Given the description of an element on the screen output the (x, y) to click on. 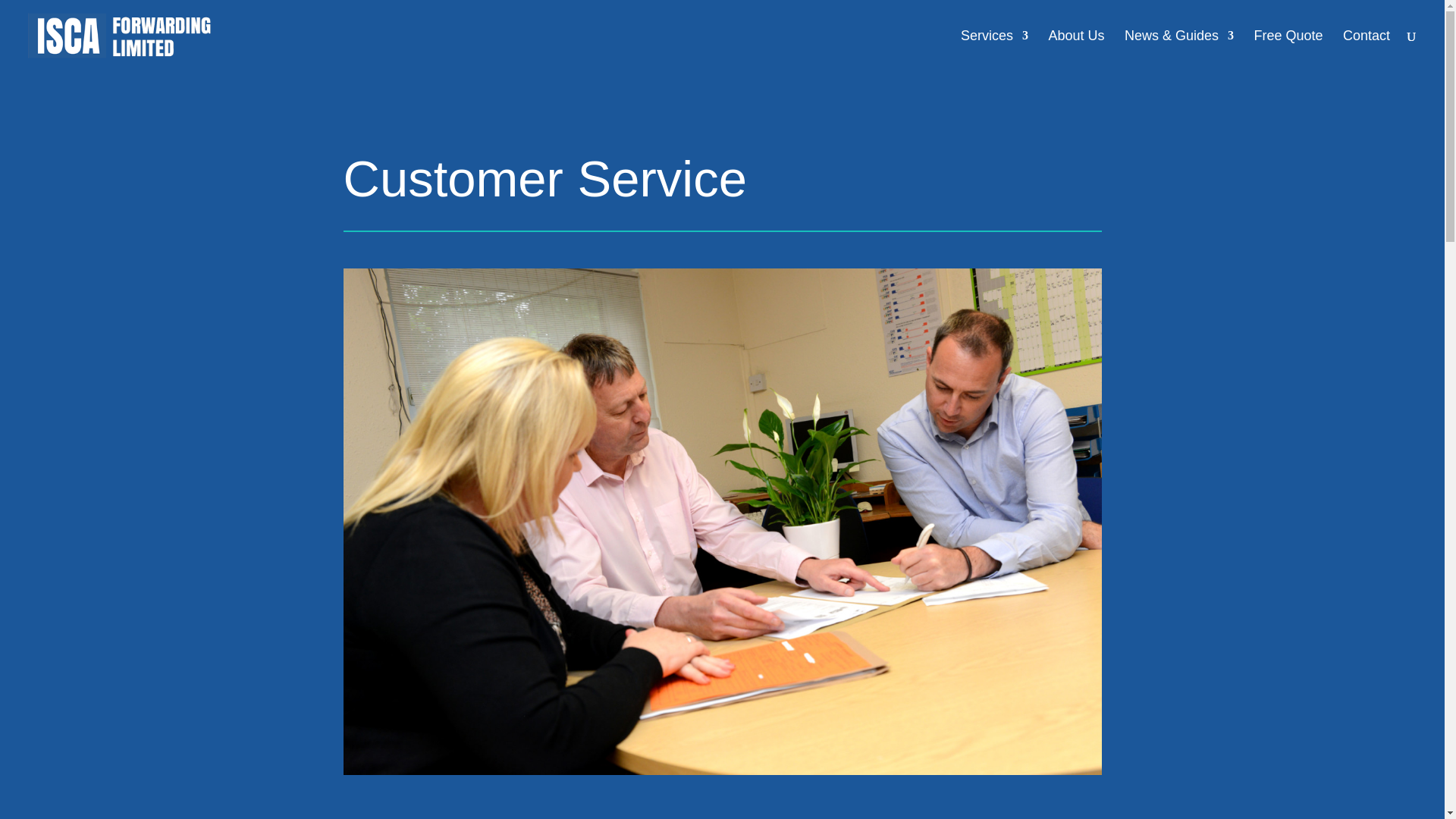
Free Quote (1287, 50)
Services (993, 50)
Page 1 (721, 182)
Contact (1366, 50)
About Us (1075, 50)
